Given the description of an element on the screen output the (x, y) to click on. 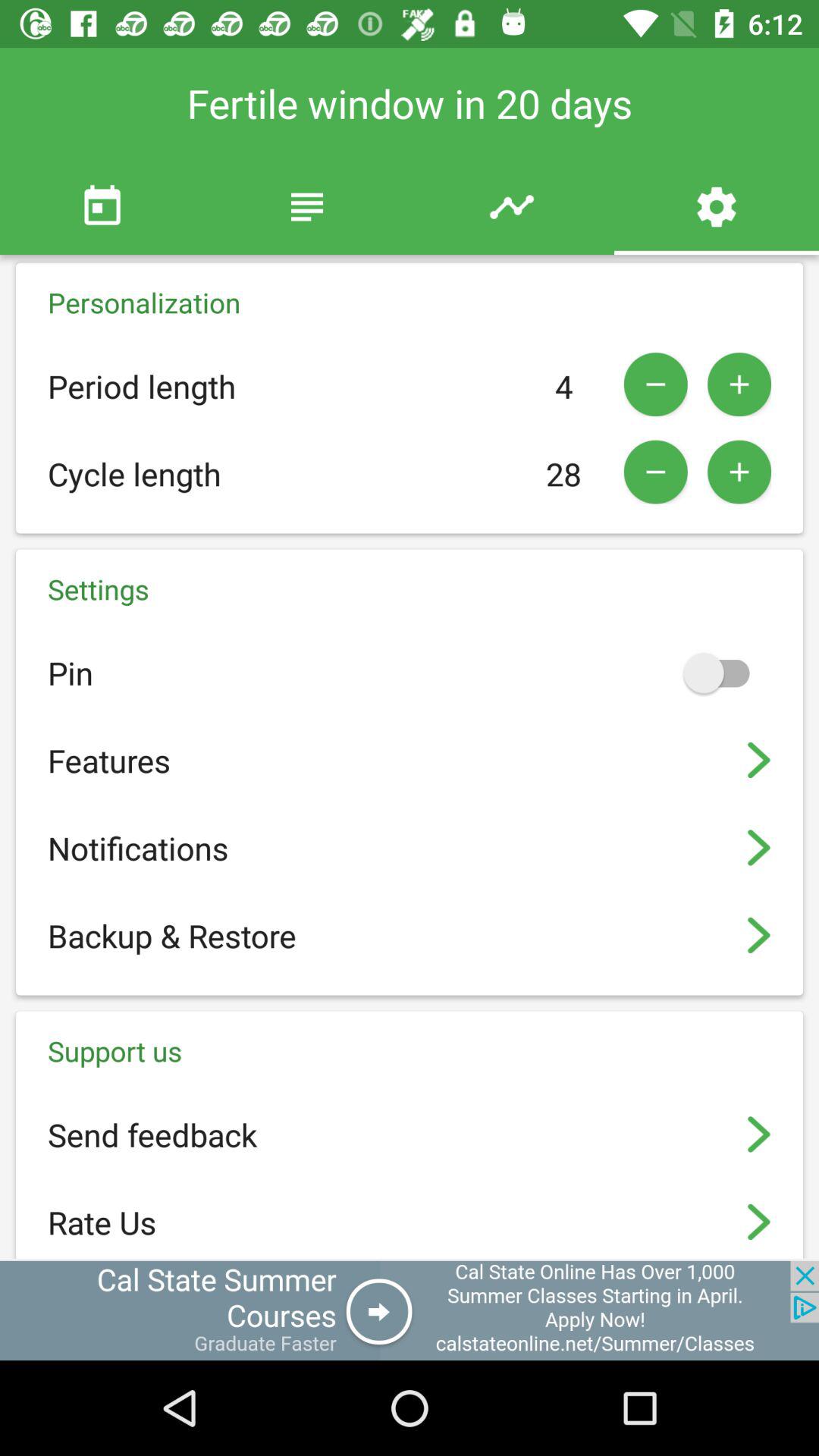
advertisement (409, 1310)
